Given the description of an element on the screen output the (x, y) to click on. 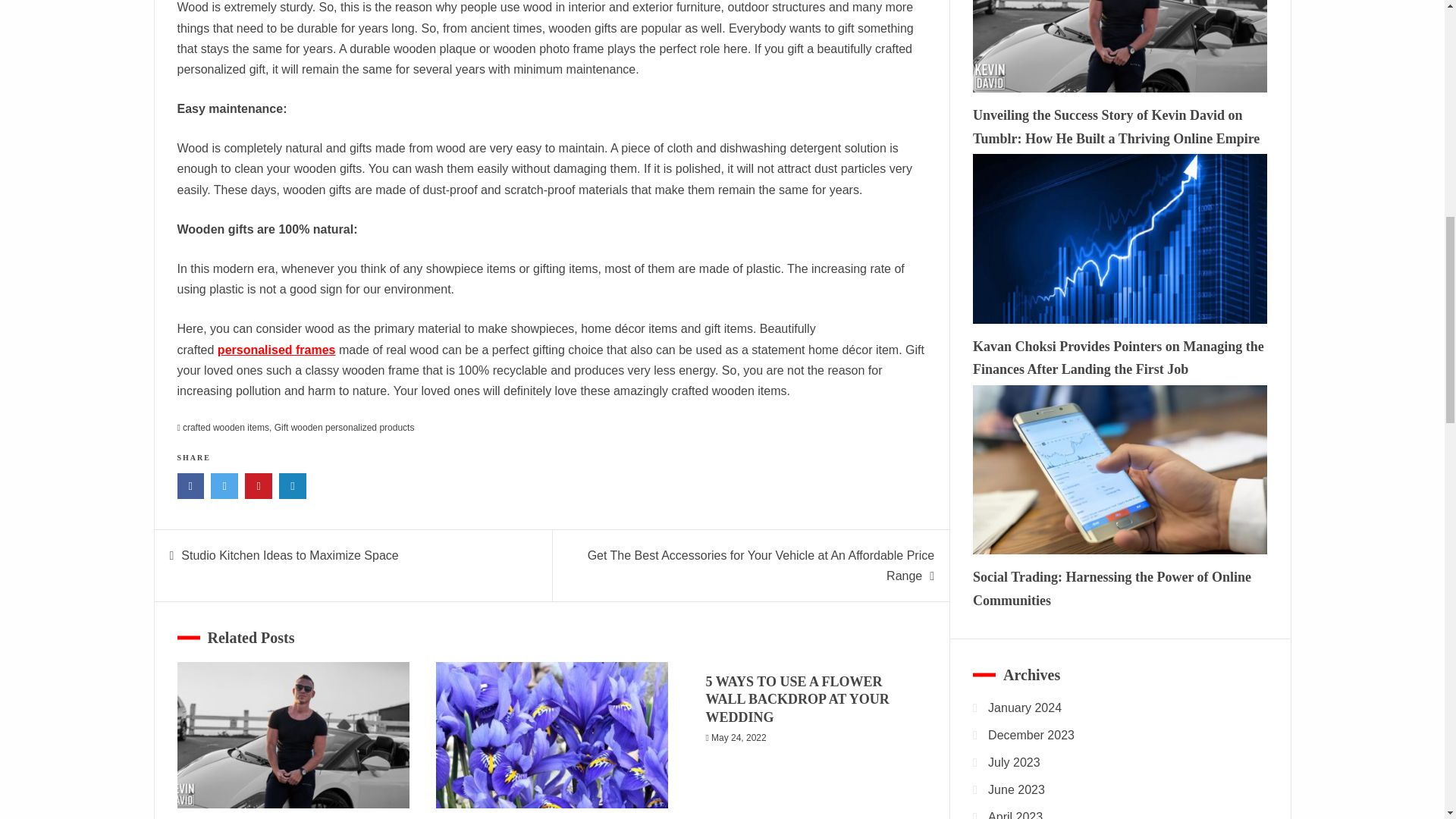
Studio Kitchen Ideas to Maximize Space (288, 554)
personalised frames (276, 349)
crafted wooden items (226, 427)
Gift wooden personalized products (344, 427)
